Given the description of an element on the screen output the (x, y) to click on. 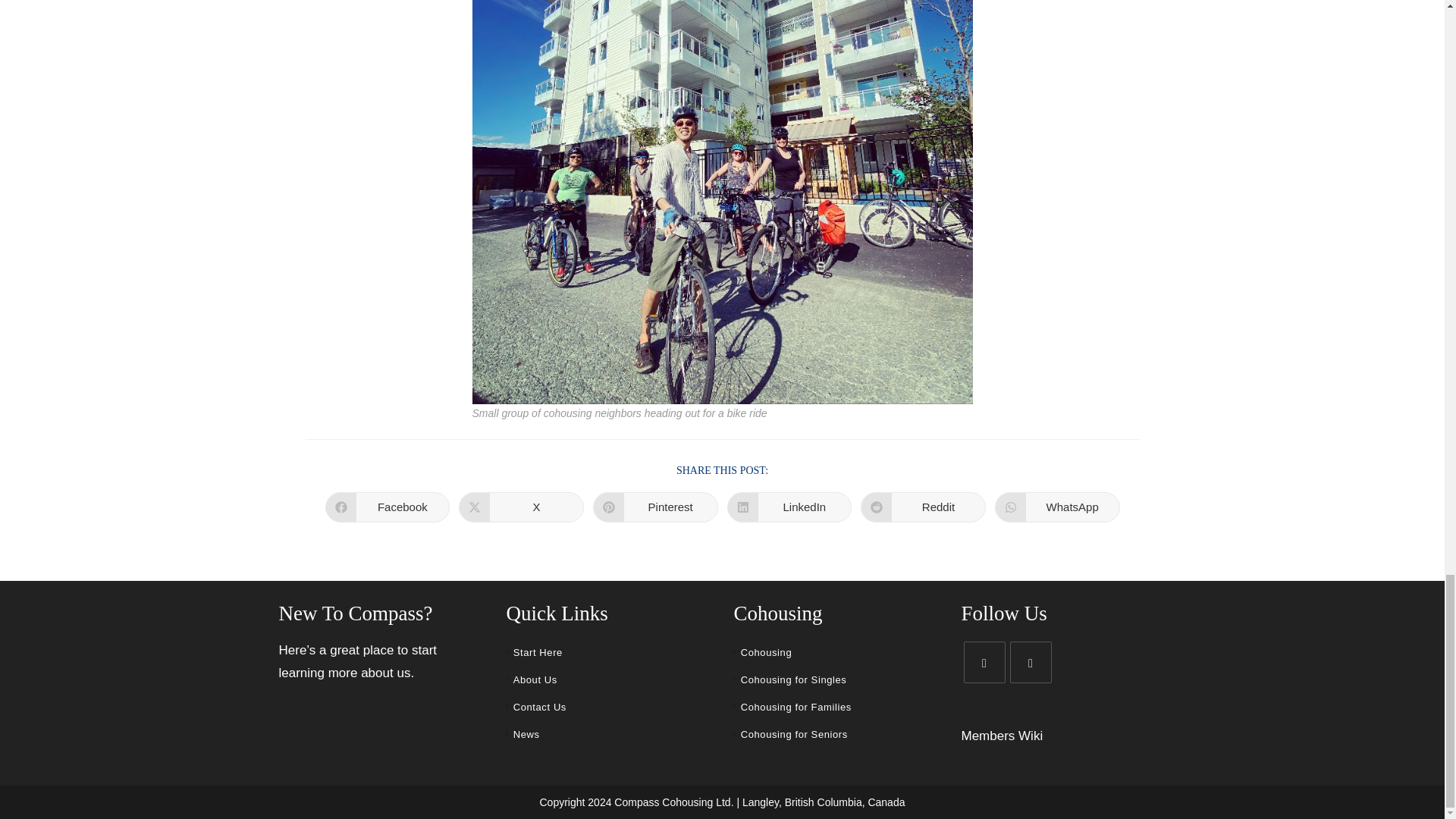
Cohousing for Seniors (836, 734)
Start Here (386, 507)
Cohousing for Families (608, 652)
Cohousing for Singles (836, 707)
Contact Us (654, 507)
About Us (836, 679)
News (520, 507)
Cohousing (922, 507)
Members Wiki (788, 507)
